Given the description of an element on the screen output the (x, y) to click on. 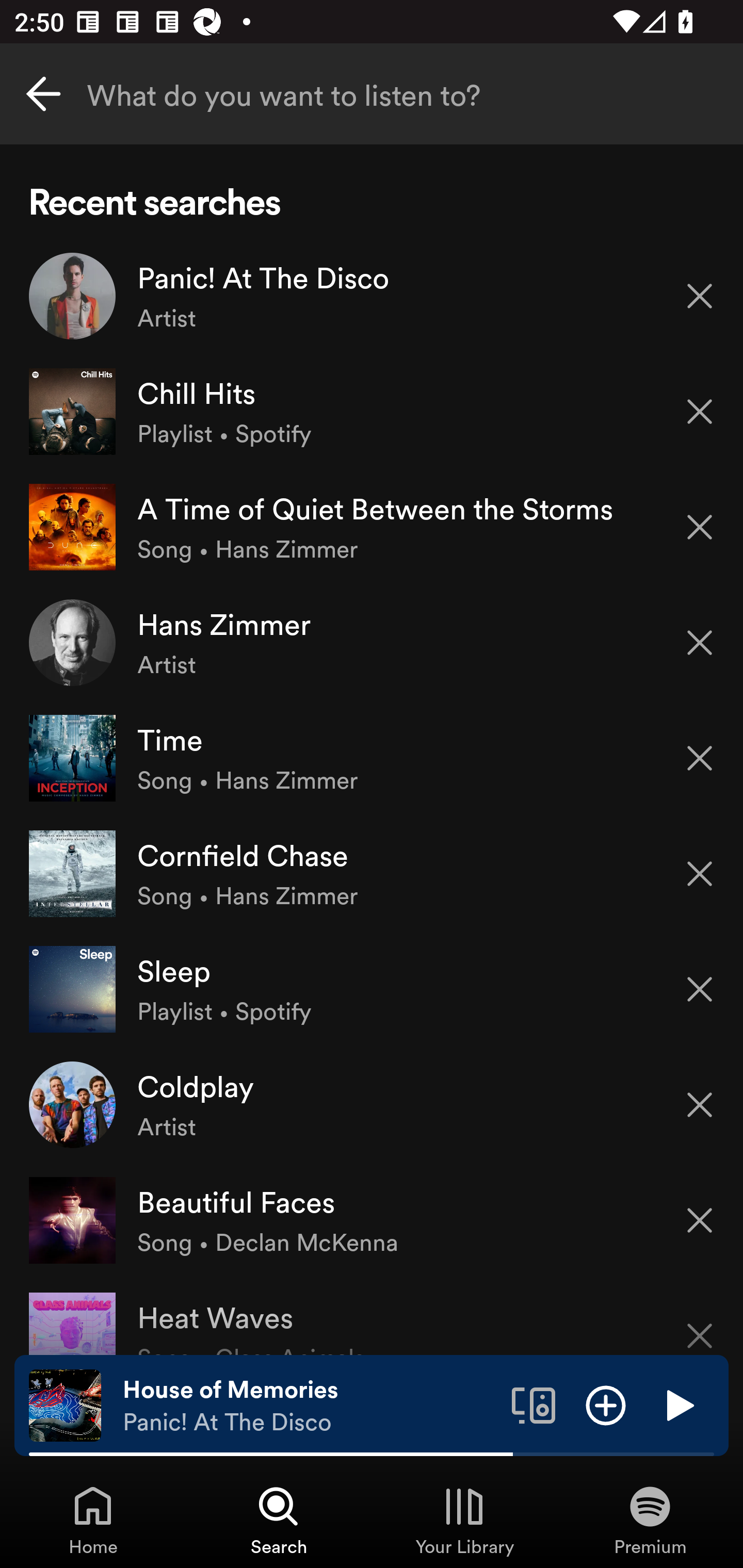
What do you want to listen to? (371, 93)
Cancel (43, 93)
Panic! At The Disco Artist Remove (371, 296)
Remove (699, 295)
Chill Hits Playlist • Spotify Remove (371, 411)
Remove (699, 411)
Remove (699, 527)
Hans Zimmer Artist Remove (371, 642)
Remove (699, 642)
Time Song • Hans Zimmer Remove (371, 757)
Remove (699, 758)
Cornfield Chase Song • Hans Zimmer Remove (371, 873)
Remove (699, 874)
Sleep Playlist • Spotify Remove (371, 989)
Remove (699, 989)
Coldplay Artist Remove (371, 1104)
Remove (699, 1104)
Beautiful Faces Song • Declan McKenna Remove (371, 1219)
Remove (699, 1220)
Heat Waves Song • Glass Animals Remove (371, 1315)
Remove (699, 1323)
House of Memories Panic! At The Disco (309, 1405)
The cover art of the currently playing track (64, 1404)
Connect to a device. Opens the devices menu (533, 1404)
Add item (605, 1404)
Play (677, 1404)
Home, Tab 1 of 4 Home Home (92, 1519)
Search, Tab 2 of 4 Search Search (278, 1519)
Your Library, Tab 3 of 4 Your Library Your Library (464, 1519)
Premium, Tab 4 of 4 Premium Premium (650, 1519)
